Given the description of an element on the screen output the (x, y) to click on. 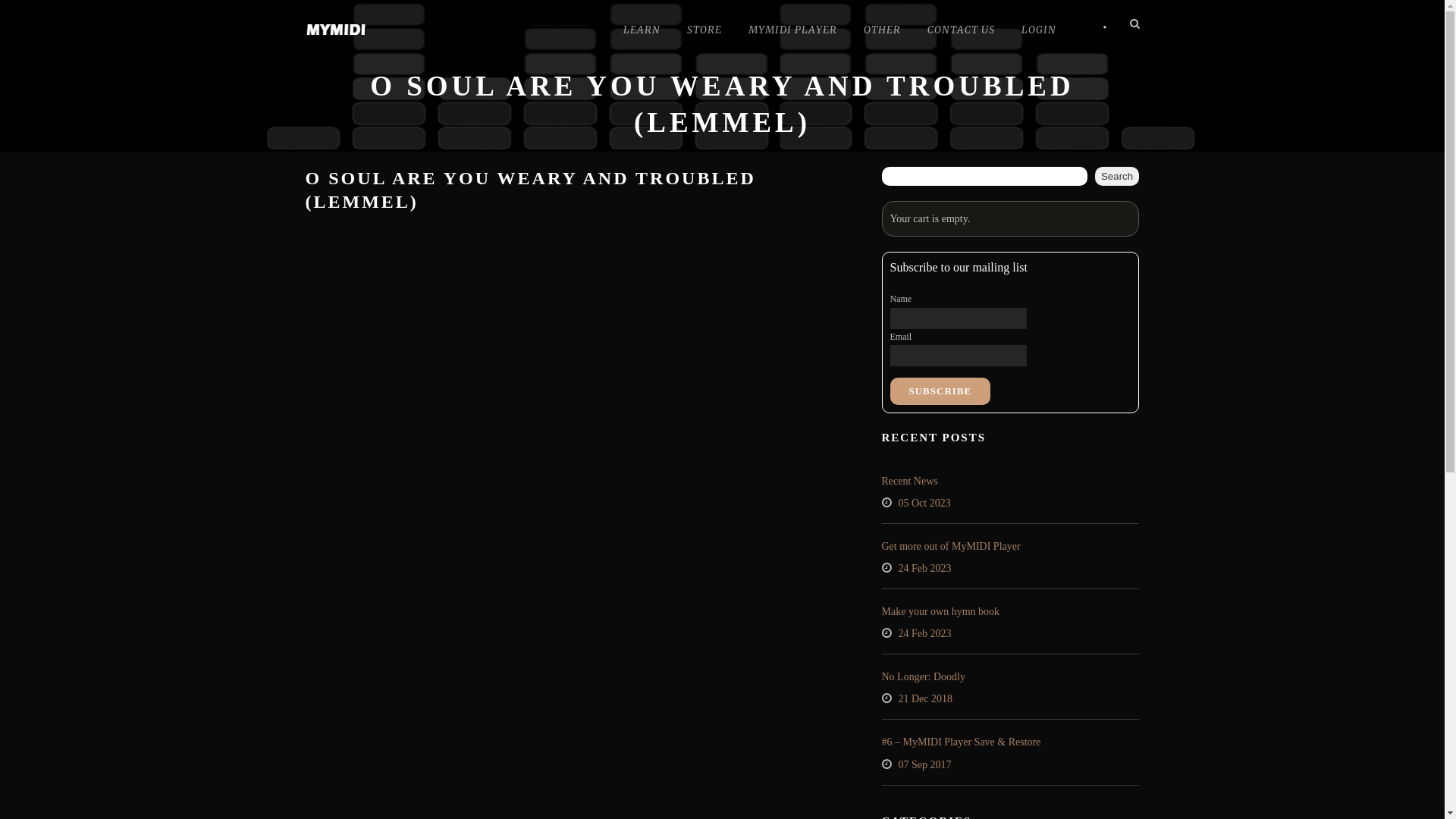
MYMIDI PLAYER Element type: text (791, 31)
24 Feb 2023 Element type: text (923, 633)
STORE Element type: text (704, 31)
LOGIN Element type: text (1037, 31)
Make your own hymn book Element type: text (940, 611)
21 Dec 2018 Element type: text (924, 698)
Subscribe Element type: text (940, 390)
OTHER Element type: text (881, 31)
CONTACT US Element type: text (960, 31)
Get more out of MyMIDI Player Element type: text (950, 546)
Search Element type: text (1117, 175)
07 Sep 2017 Element type: text (923, 764)
05 Oct 2023 Element type: text (923, 502)
Recent News Element type: text (909, 480)
24 Feb 2023 Element type: text (923, 568)
LEARN Element type: text (641, 31)
No Longer: Doodly Element type: text (922, 676)
